Given the description of an element on the screen output the (x, y) to click on. 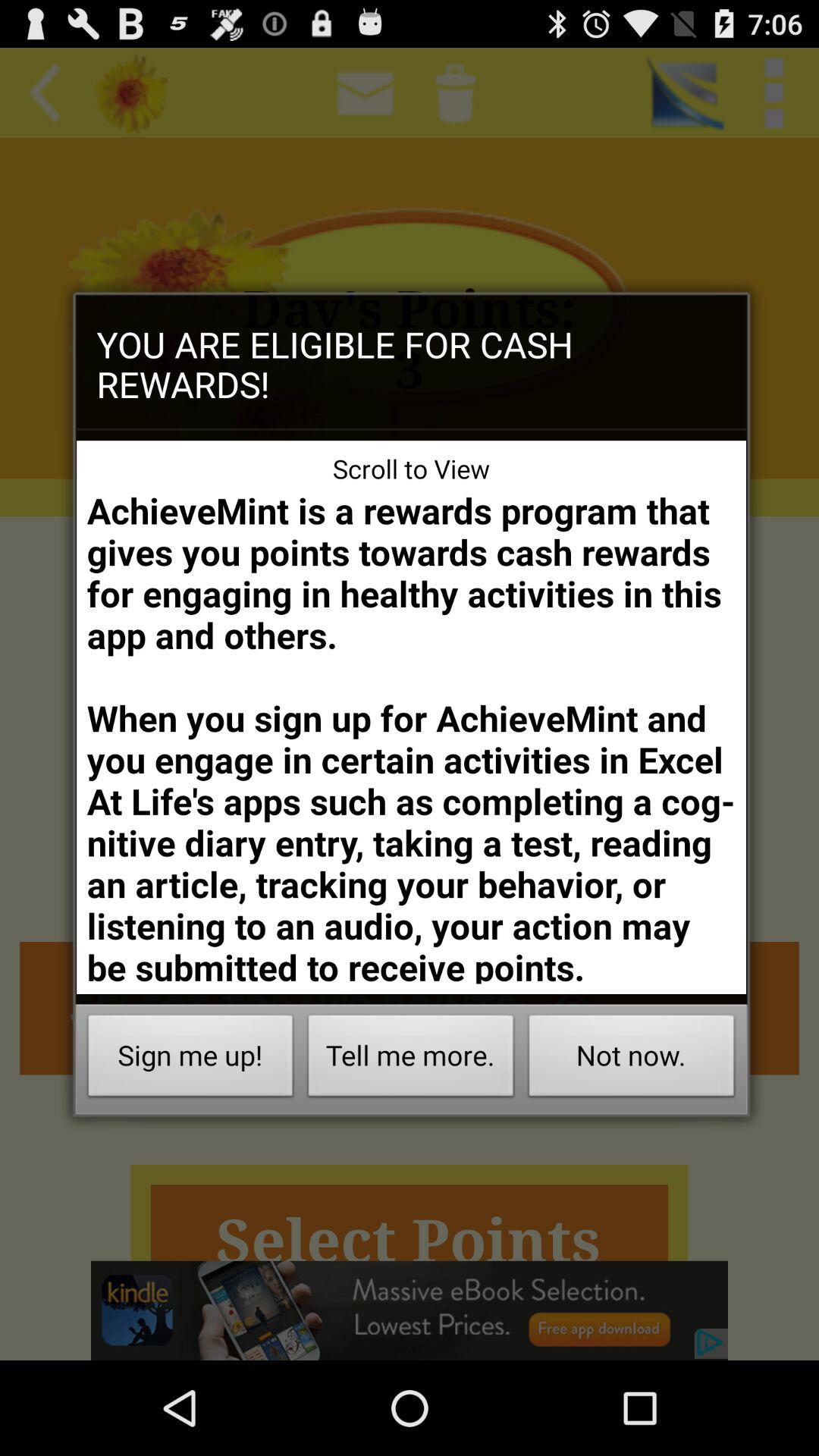
launch the tell me more. at the bottom (410, 1059)
